Given the description of an element on the screen output the (x, y) to click on. 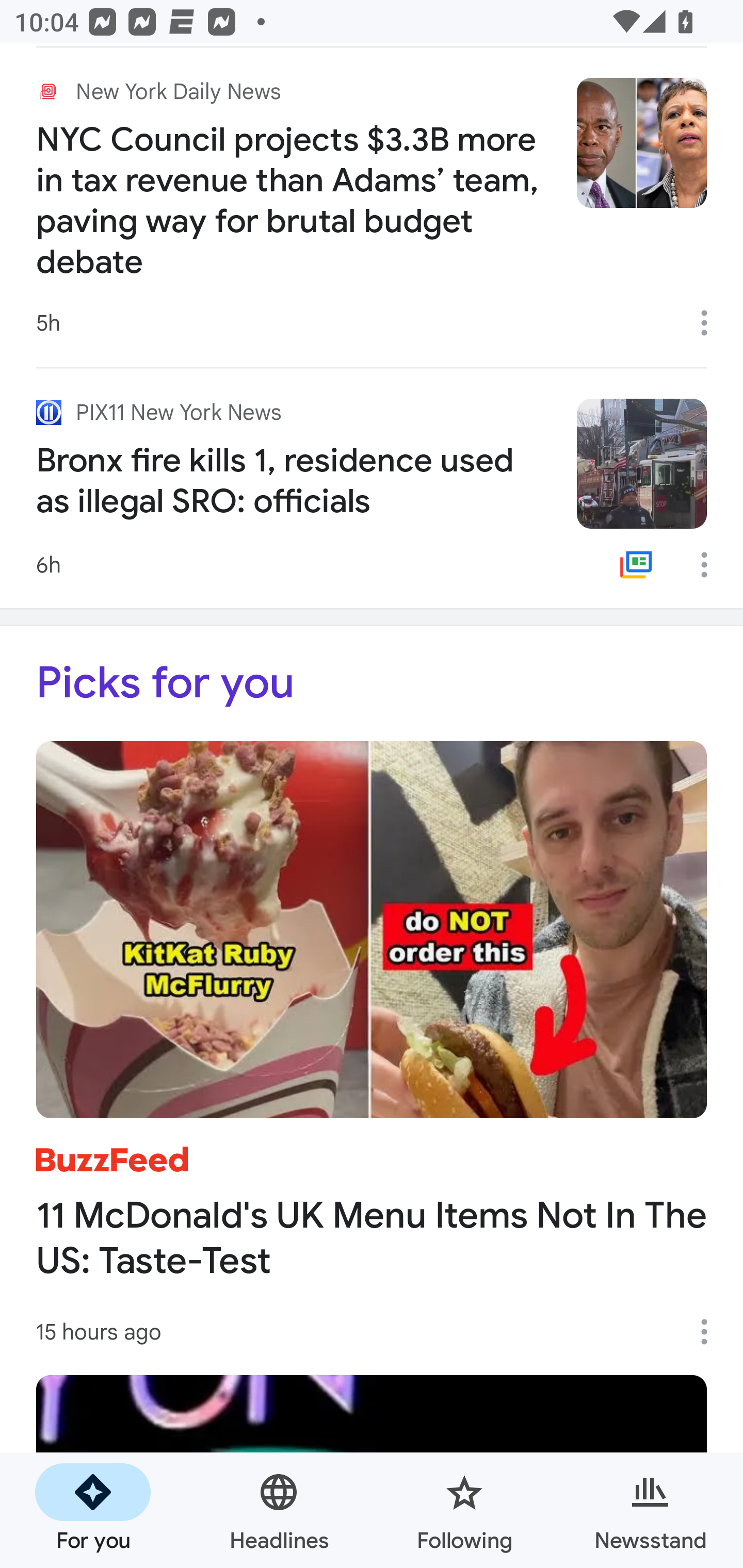
More options (711, 322)
More options (711, 564)
More options (711, 1331)
For you (92, 1509)
Headlines (278, 1509)
Following (464, 1509)
Newsstand (650, 1509)
